Given the description of an element on the screen output the (x, y) to click on. 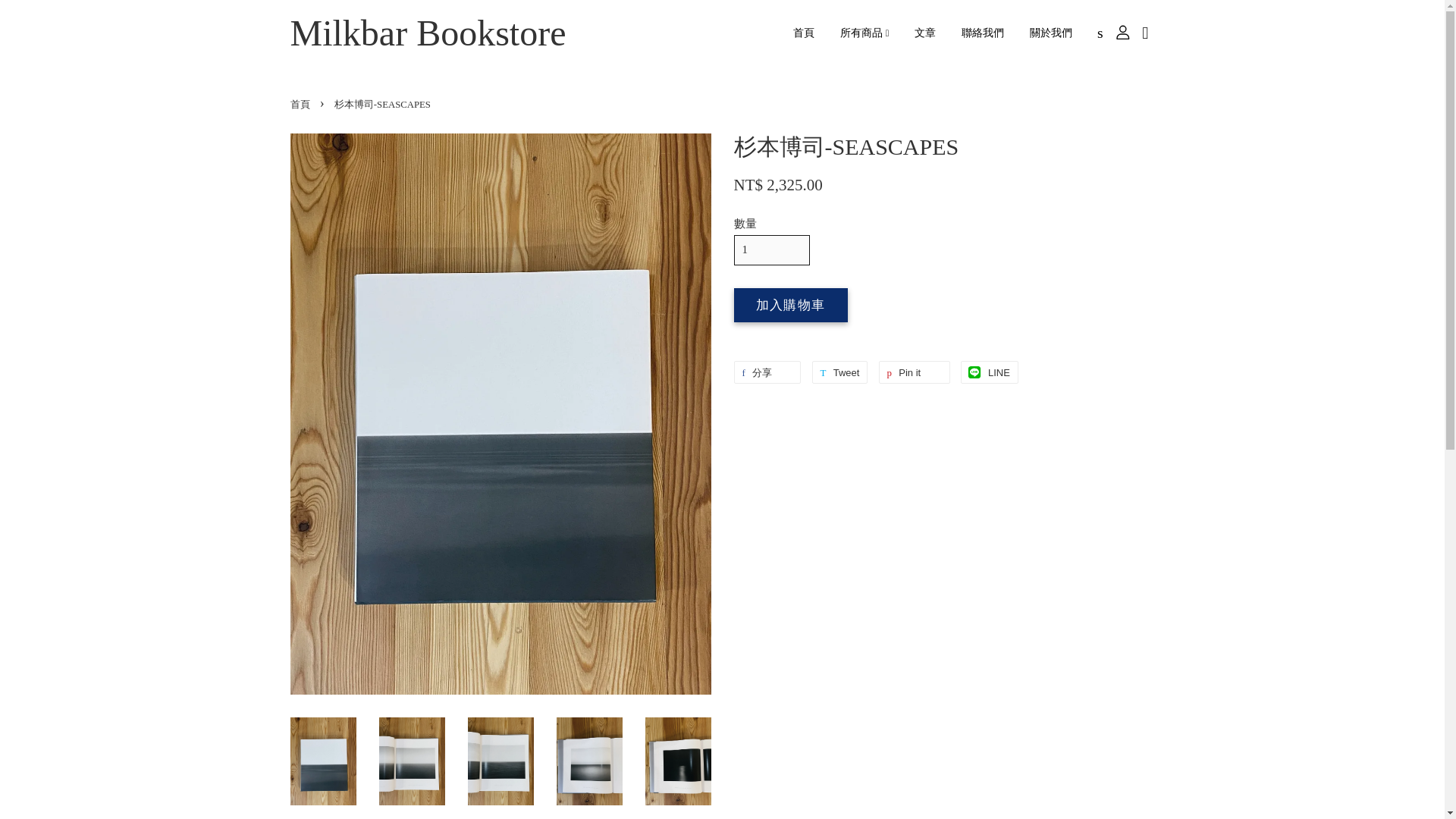
Milkbar Bookstore (427, 33)
1 (771, 249)
icon-line (974, 372)
